Given the description of an element on the screen output the (x, y) to click on. 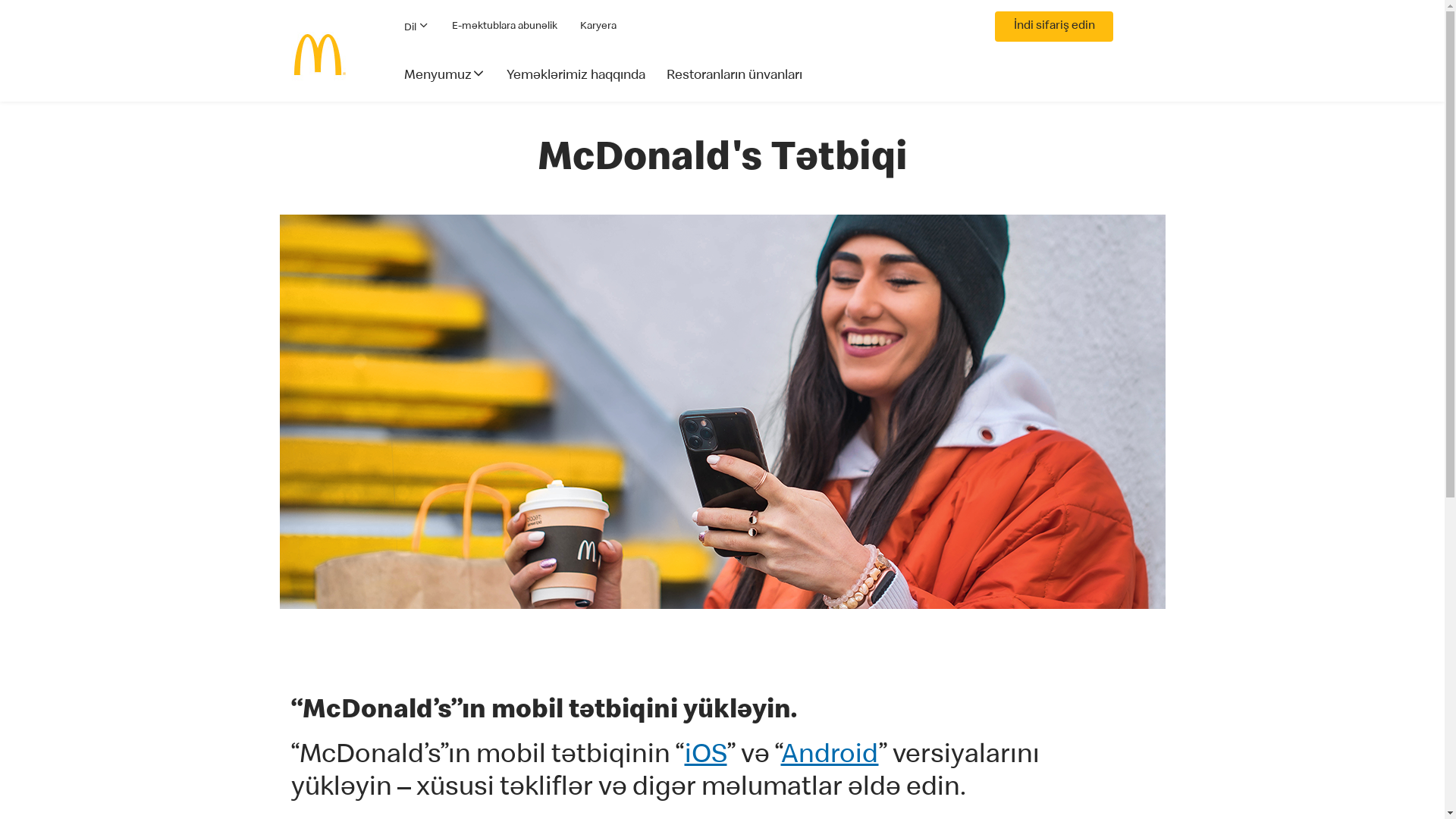
Dil Element type: text (415, 26)
Menyumuz Element type: text (445, 82)
iOS Element type: text (705, 756)
Karyera Element type: text (597, 26)
Android Element type: text (829, 756)
